Given the description of an element on the screen output the (x, y) to click on. 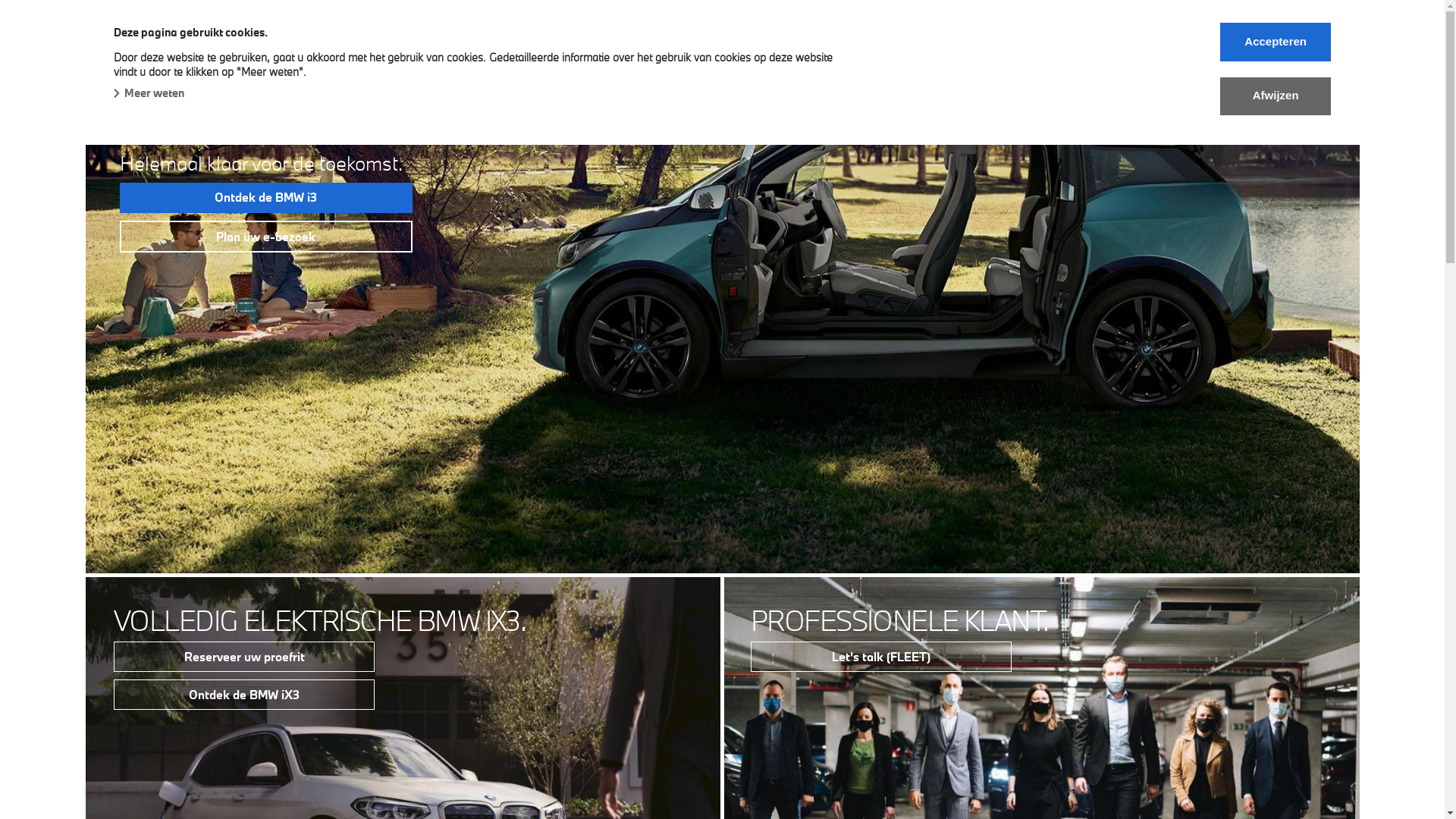
Meer weten Element type: text (148, 92)
Reserveer uw proefrit Element type: text (243, 656)
Accepteren Element type: text (1275, 41)
Onze concessies Element type: text (648, 63)
Skip to main content Element type: text (0, 0)
FR/NL Element type: text (1076, 63)
Contact Element type: text (817, 63)
Let's talk (FLEET) Element type: text (880, 656)
Fleet Element type: text (408, 63)
Snel leverbare wagens Element type: text (301, 63)
Afwijzen Element type: text (1275, 95)
BMW A&M Group Element type: text (164, 31)
Ontdek de BMW i3 Element type: text (265, 197)
Nieuwe wagens Element type: text (163, 63)
Service & Accessoires Element type: text (511, 63)
Ontdek de BMW iX3 Element type: text (243, 694)
Nieuws Element type: text (744, 63)
Jobs Element type: text (881, 63)
Plan uw e-bezoek Element type: text (265, 236)
Maak een afspraak Element type: text (976, 63)
